Given the description of an element on the screen output the (x, y) to click on. 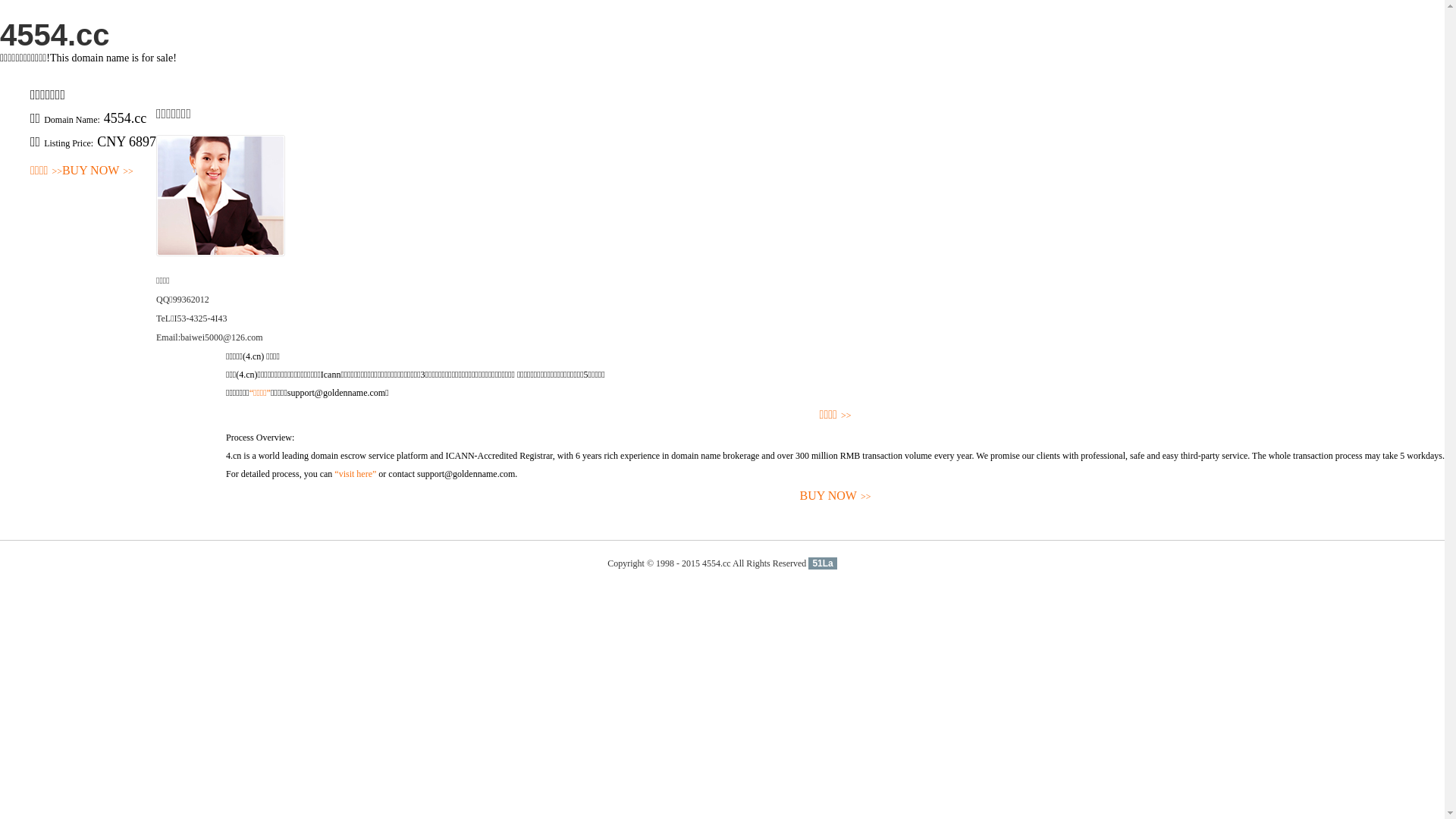
BUY NOW>> Element type: text (834, 496)
BUY NOW>> Element type: text (97, 170)
51La Element type: text (822, 563)
